Given the description of an element on the screen output the (x, y) to click on. 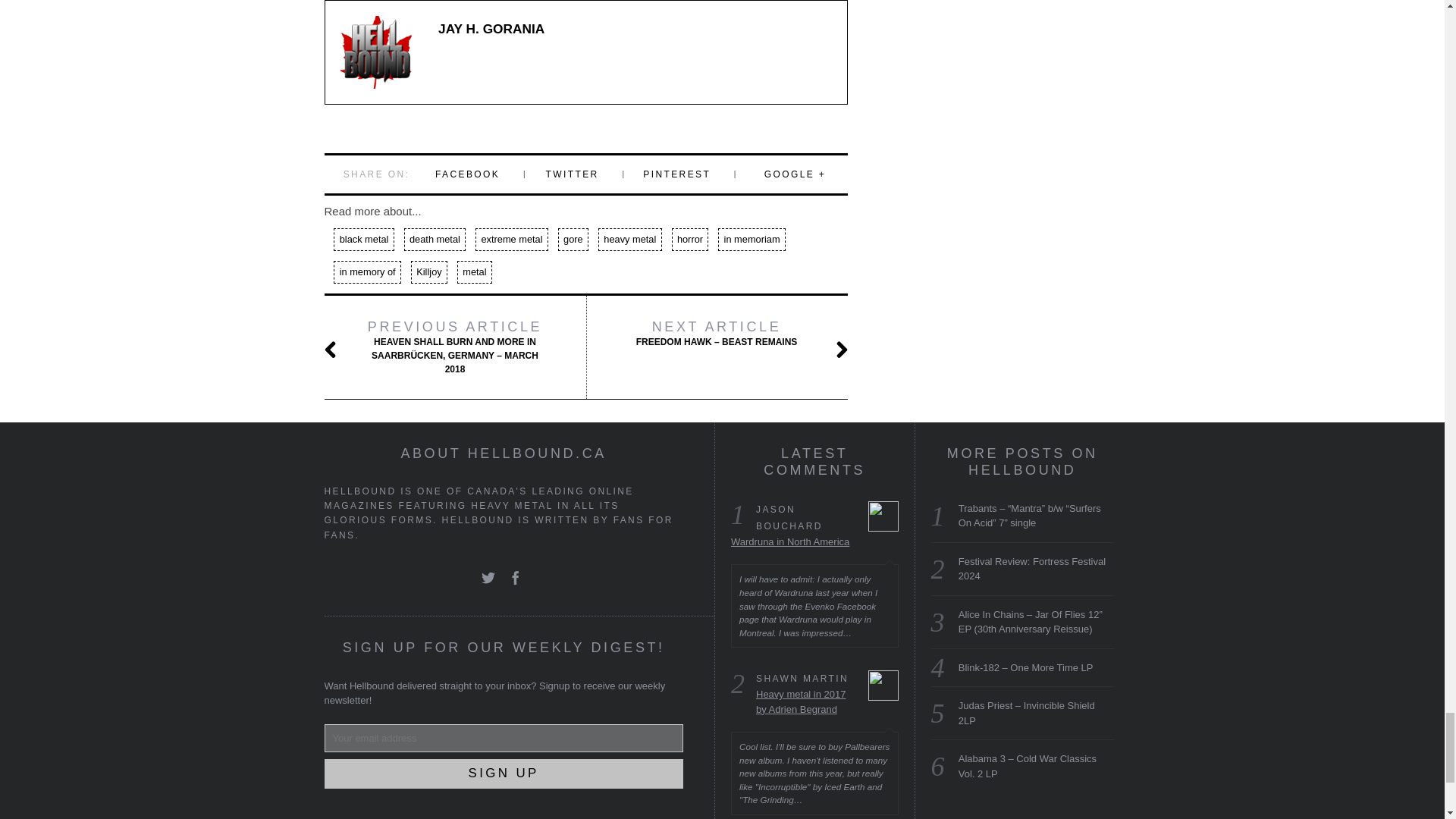
Sign up (503, 773)
